Given the description of an element on the screen output the (x, y) to click on. 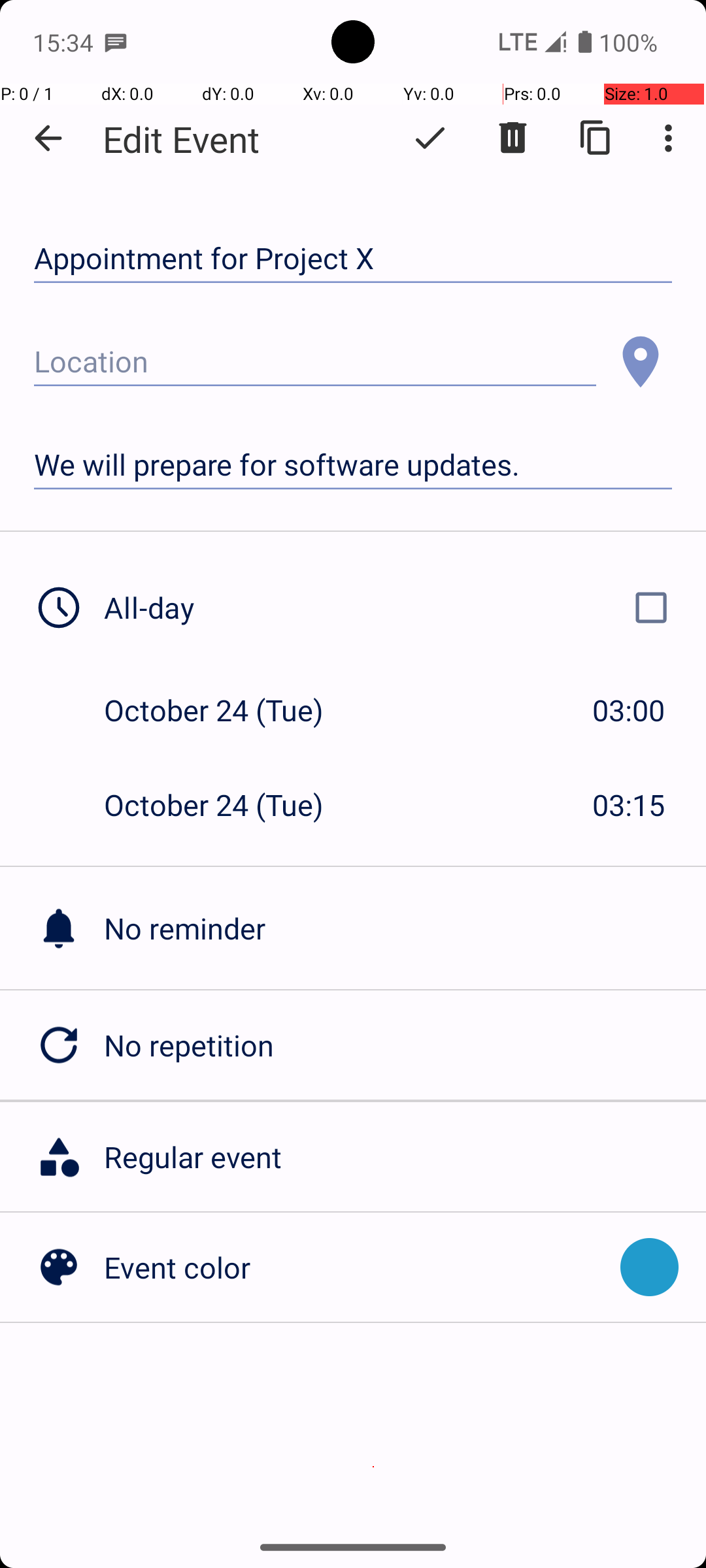
We will prepare for software updates. Element type: android.widget.EditText (352, 465)
October 24 (Tue) Element type: android.widget.TextView (227, 709)
03:00 Element type: android.widget.TextView (628, 709)
03:15 Element type: android.widget.TextView (628, 804)
